Given the description of an element on the screen output the (x, y) to click on. 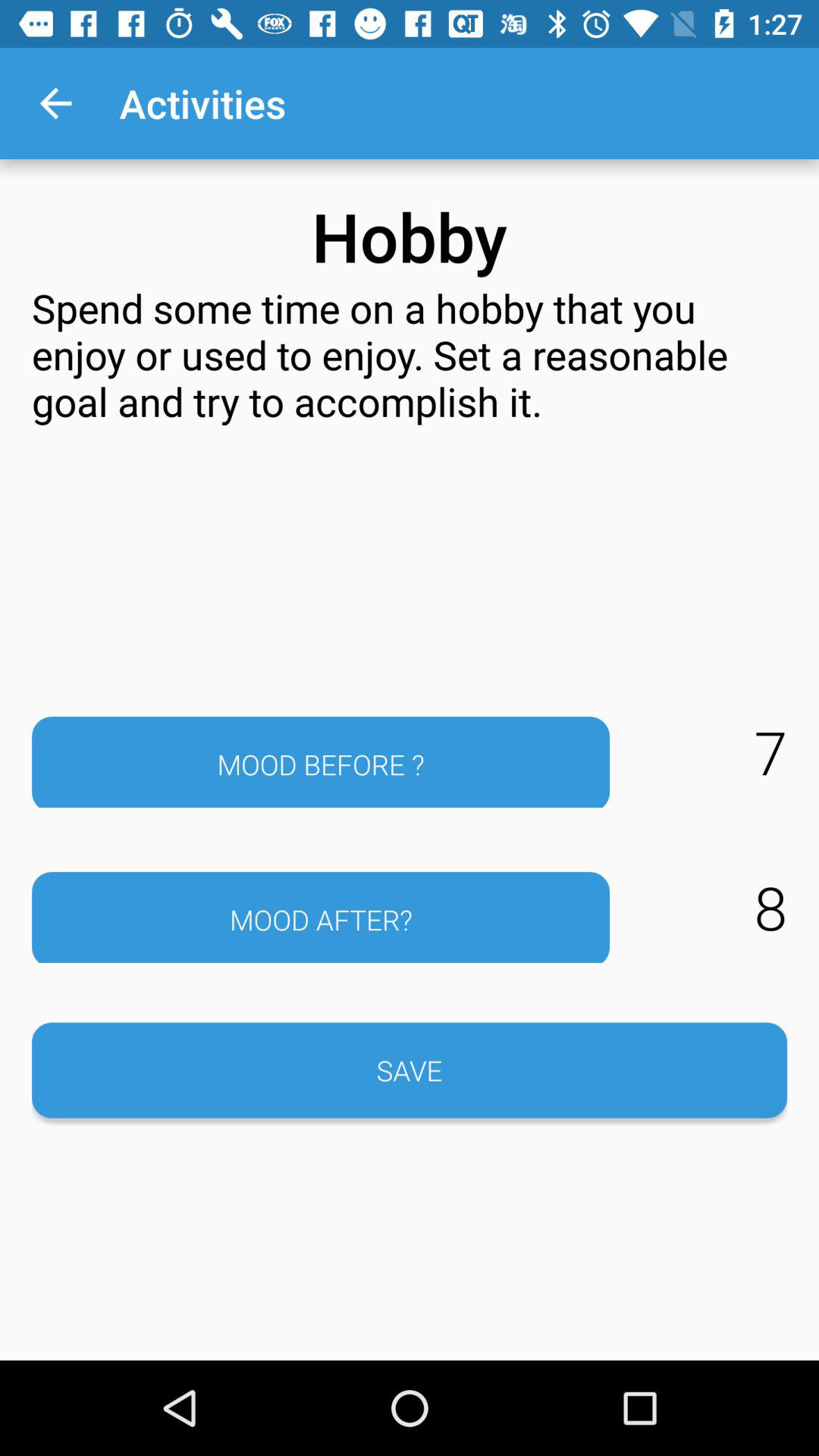
scroll until save item (409, 1070)
